Given the description of an element on the screen output the (x, y) to click on. 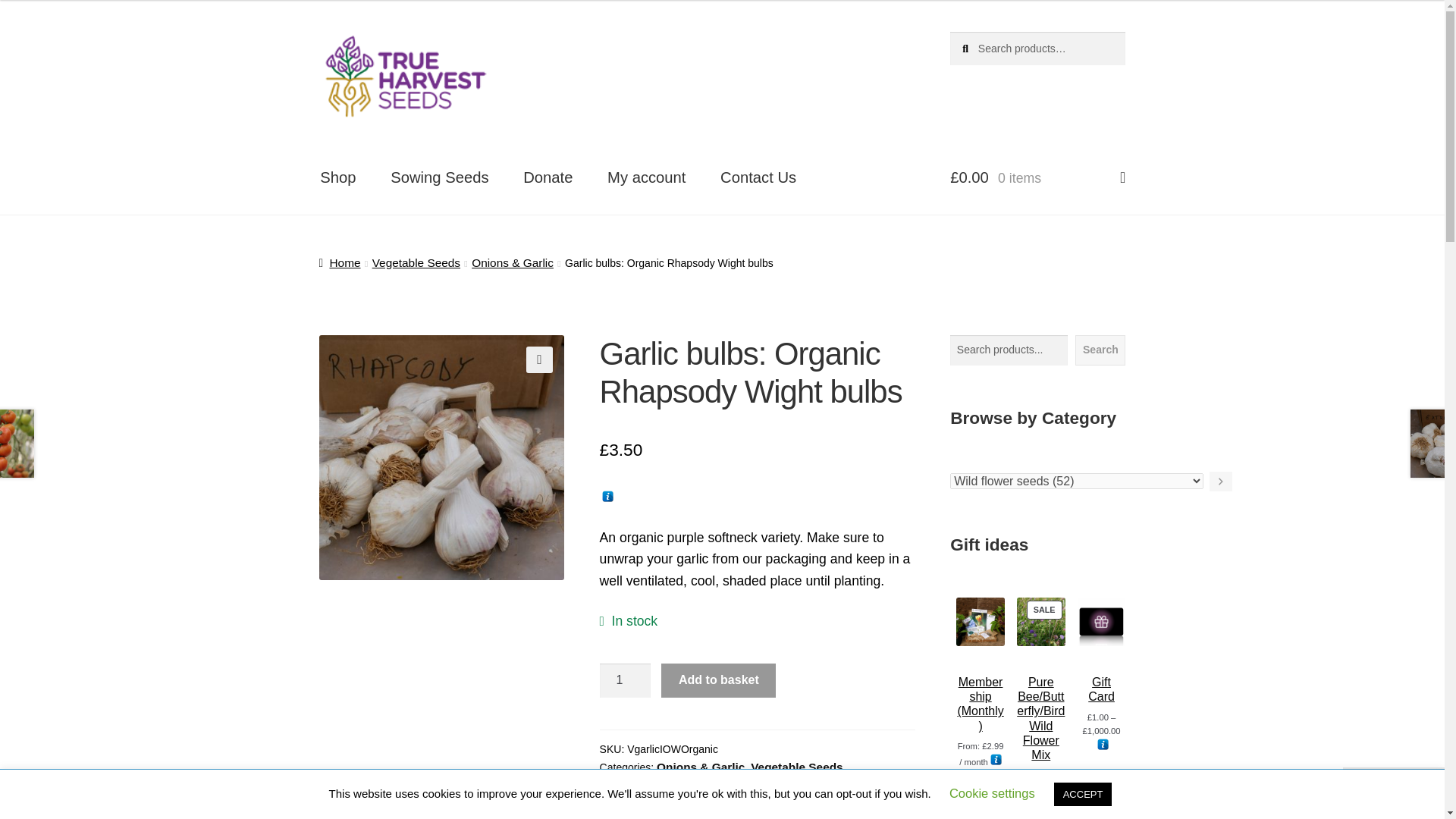
Rhapsody. Organic bulbs. (441, 457)
Sowing Seeds (439, 177)
Shop (337, 177)
Search (1100, 349)
1 (624, 679)
Vegetable Seeds (416, 262)
Donate (548, 177)
My account (646, 177)
garlic (680, 785)
